Given the description of an element on the screen output the (x, y) to click on. 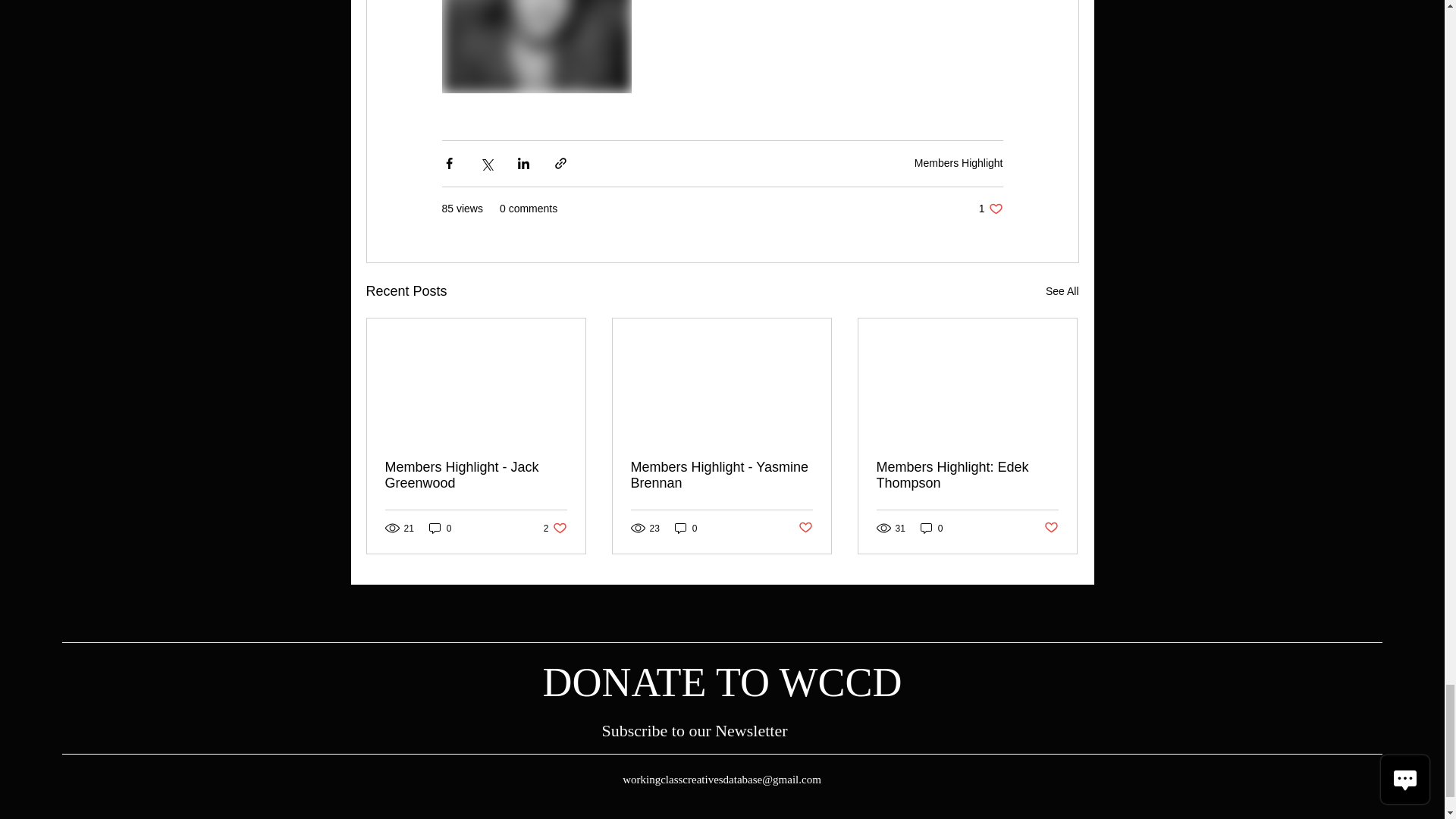
Members Highlight - Yasmine Brennan (721, 475)
See All (1061, 291)
0 (440, 527)
Members Highlight (958, 162)
0 (685, 527)
Post not marked as liked (804, 528)
Members Highlight - Jack Greenwood (476, 475)
